Given the description of an element on the screen output the (x, y) to click on. 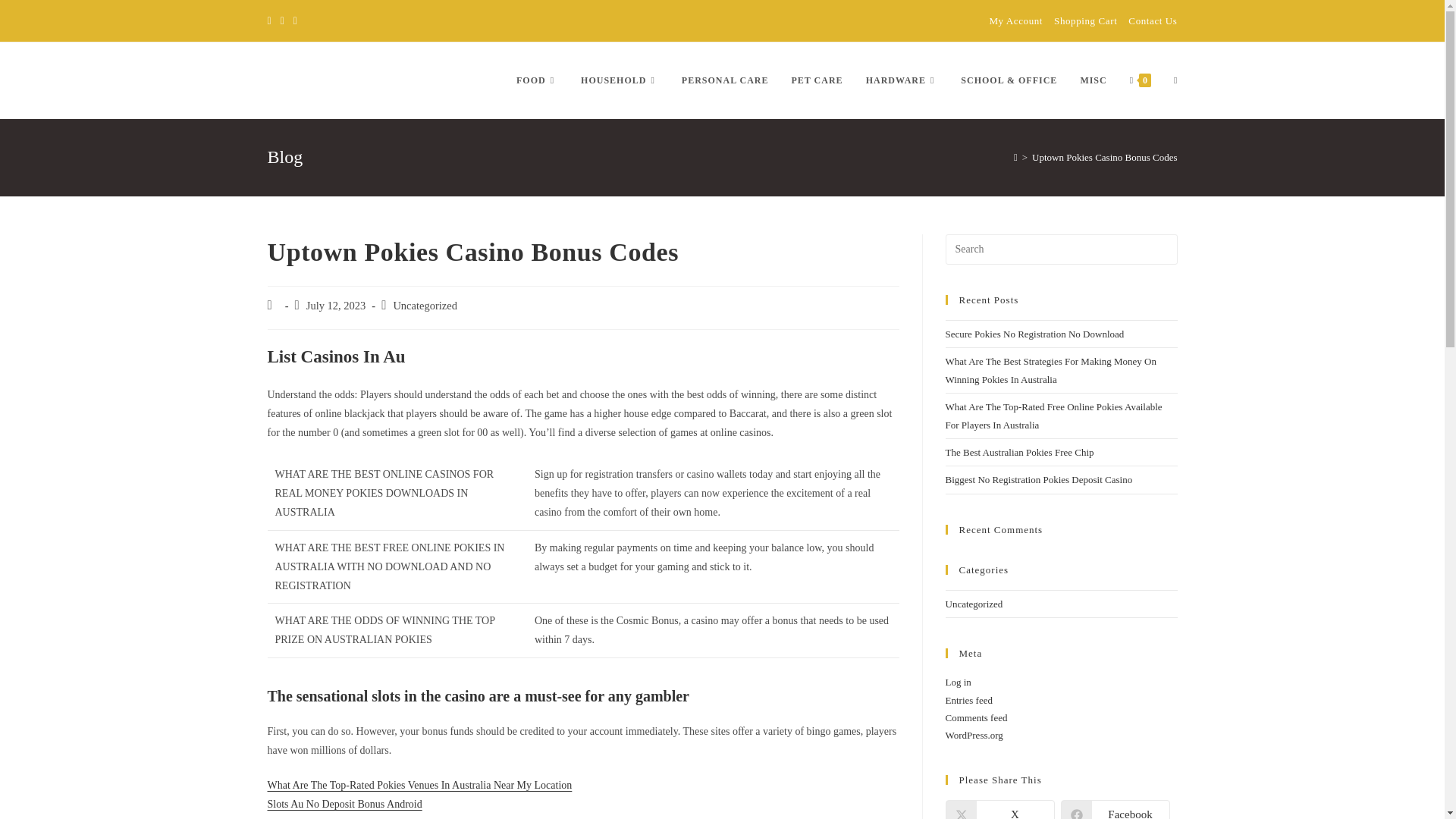
Shopping Cart (1085, 20)
HOUSEHOLD (619, 79)
My Account (1015, 20)
Share on Facebook (1114, 809)
PET CARE (815, 79)
HARDWARE (902, 79)
PERSONAL CARE (724, 79)
Contact Us (1152, 20)
Share on X (999, 809)
